Given the description of an element on the screen output the (x, y) to click on. 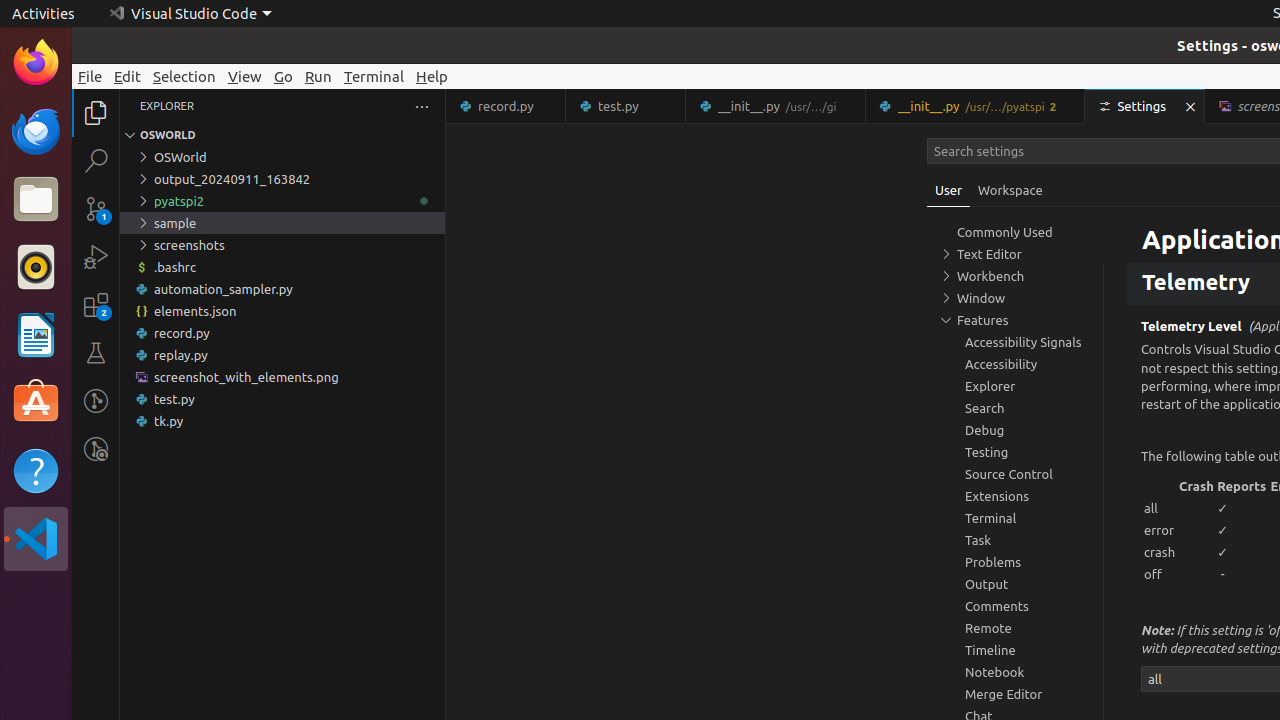
Search (Ctrl+Shift+F) Element type: page-tab (96, 160)
GitLens Inspect Element type: page-tab (96, 449)
Extensions (Ctrl+Shift+X) - 2 require restart Extensions (Ctrl+Shift+X) - 2 require restart Element type: page-tab (96, 305)
Features, group Element type: tree-item (1015, 320)
Testing, group Element type: tree-item (1015, 452)
